Given the description of an element on the screen output the (x, y) to click on. 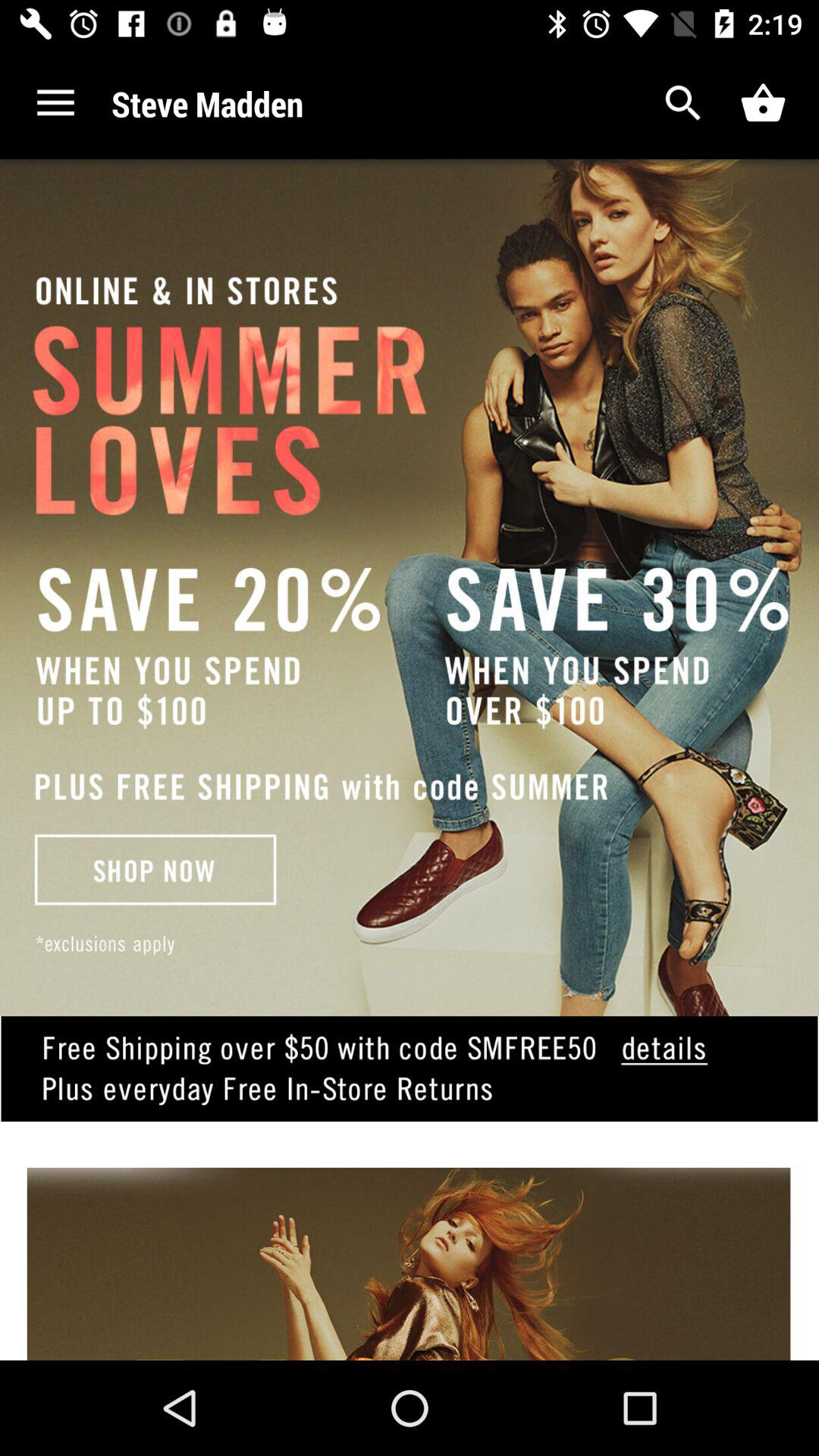
see the details (409, 1091)
